Given the description of an element on the screen output the (x, y) to click on. 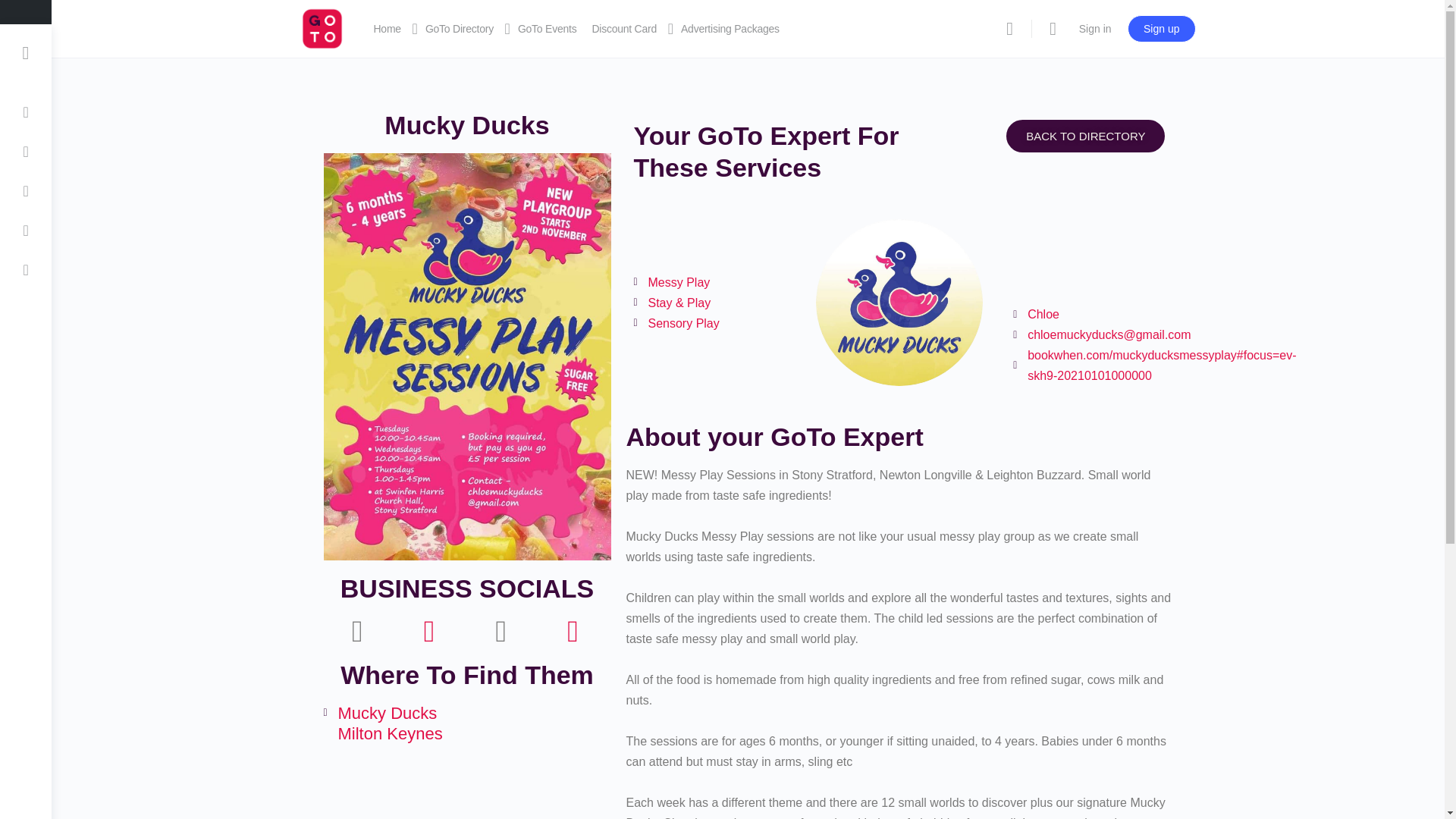
Discount Card (623, 28)
Sign in (1095, 28)
GoTo Directory (459, 28)
Milton Keynes (466, 789)
GoTo Events (547, 28)
Sign up (1160, 28)
Advertising Packages (729, 28)
